Given the description of an element on the screen output the (x, y) to click on. 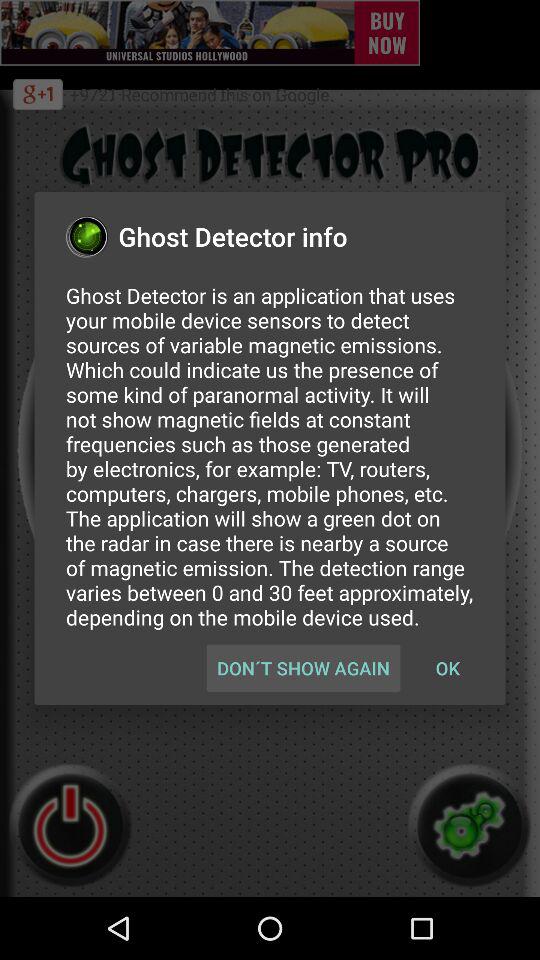
open the icon below the ghost detector is (303, 667)
